Given the description of an element on the screen output the (x, y) to click on. 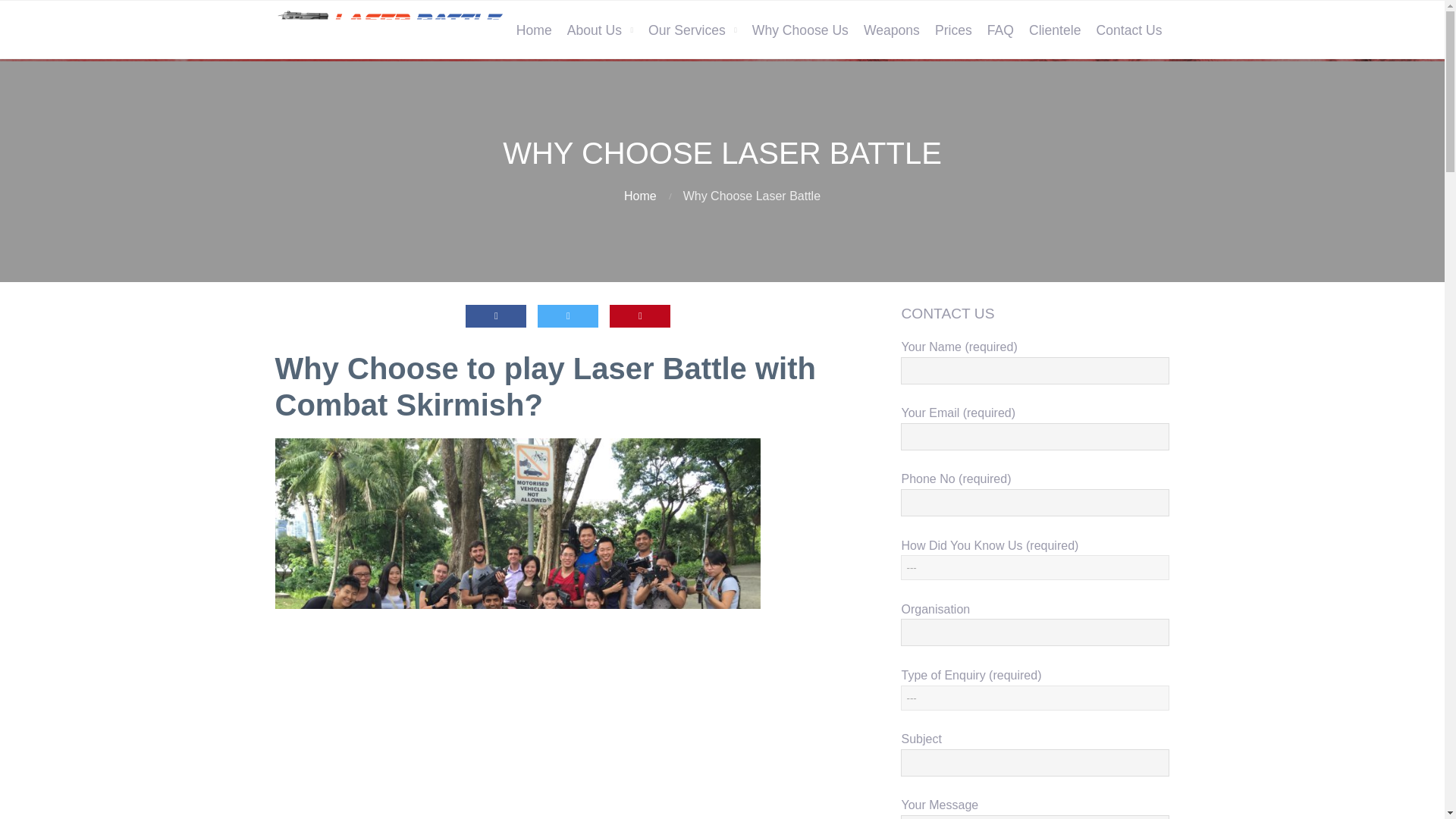
Home (533, 30)
Contact Us (1128, 30)
Our Services (692, 30)
FAQ (1000, 30)
Clientele (1054, 30)
Home (640, 195)
Prices (953, 30)
Why Choose Us (800, 30)
Weapons (891, 30)
About Us (599, 30)
